Given the description of an element on the screen output the (x, y) to click on. 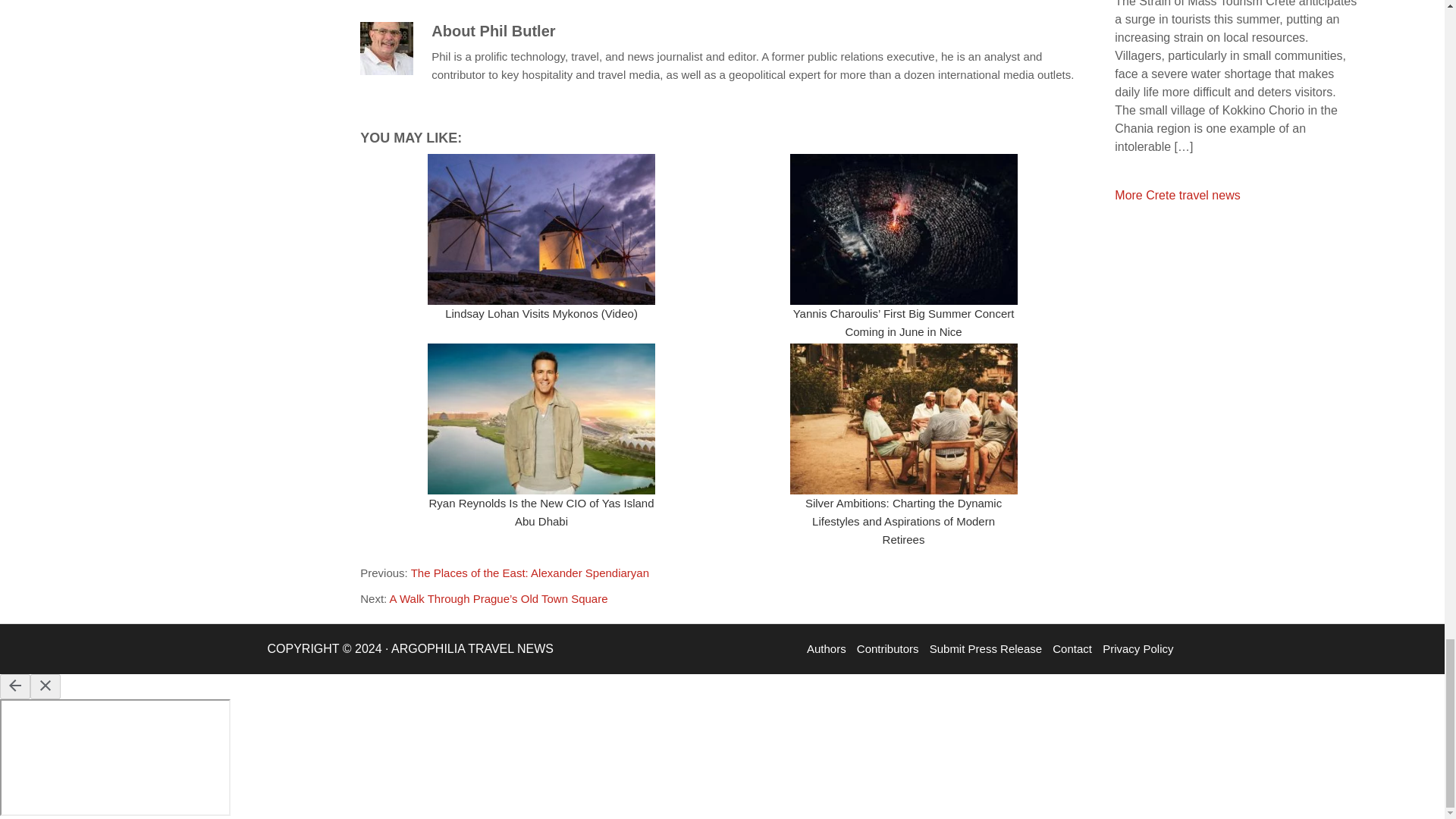
Permanent Link to  (903, 228)
Permanent Link to  (540, 228)
Permanent Link to  (903, 418)
Ryan Reynolds Is the New CIO of Yas Island Abu Dhabi (540, 511)
Permanent Link to  (540, 418)
